Given the description of an element on the screen output the (x, y) to click on. 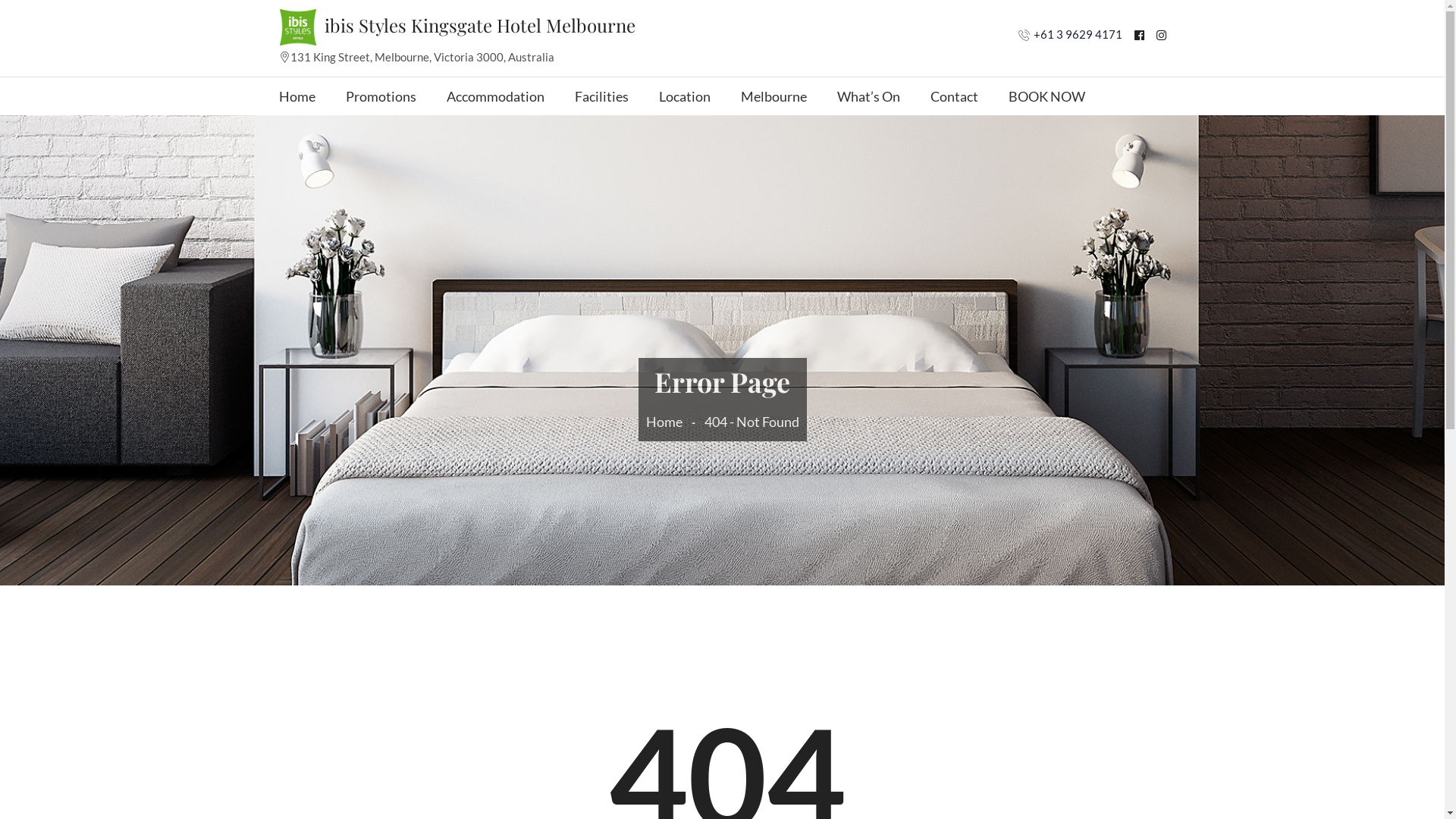
Contact Element type: text (953, 95)
Home   Element type: text (666, 421)
+61 3 9629 4171 Element type: text (1076, 33)
Home Element type: text (297, 95)
Melbourne Element type: text (773, 95)
Accommodation Element type: text (494, 95)
Promotions Element type: text (380, 95)
Facilities Element type: text (601, 95)
ibis Styles Kingsgate Hotel Melbourne Element type: hover (297, 27)
BOOK NOW Element type: text (1046, 95)
Location Element type: text (683, 95)
